Given the description of an element on the screen output the (x, y) to click on. 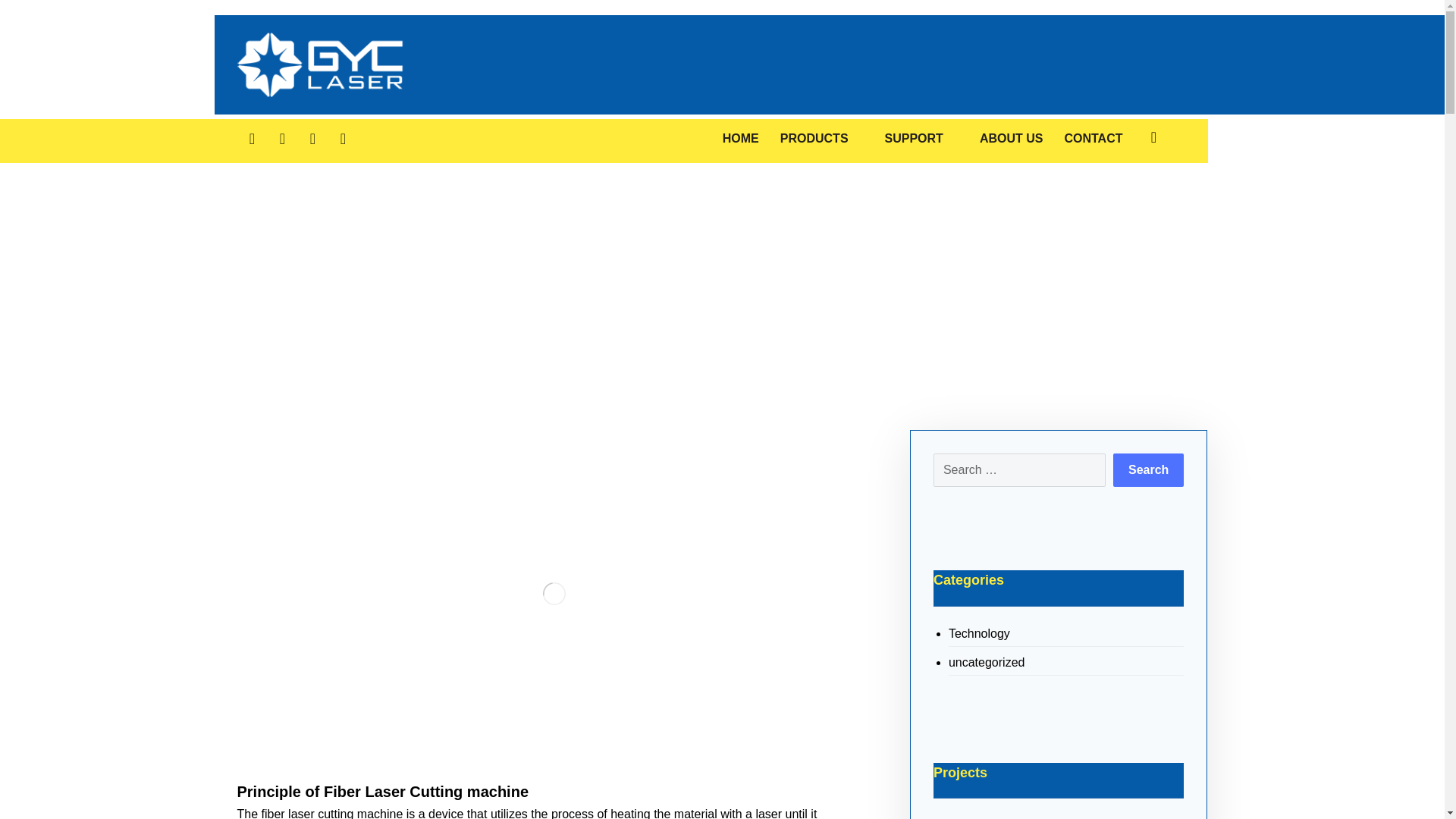
CONTACT (1093, 138)
HOME (740, 138)
Search (1148, 469)
PRODUCTS (821, 138)
SUPPORT (921, 138)
Search (1148, 469)
ABOUT US (1011, 138)
